Given the description of an element on the screen output the (x, y) to click on. 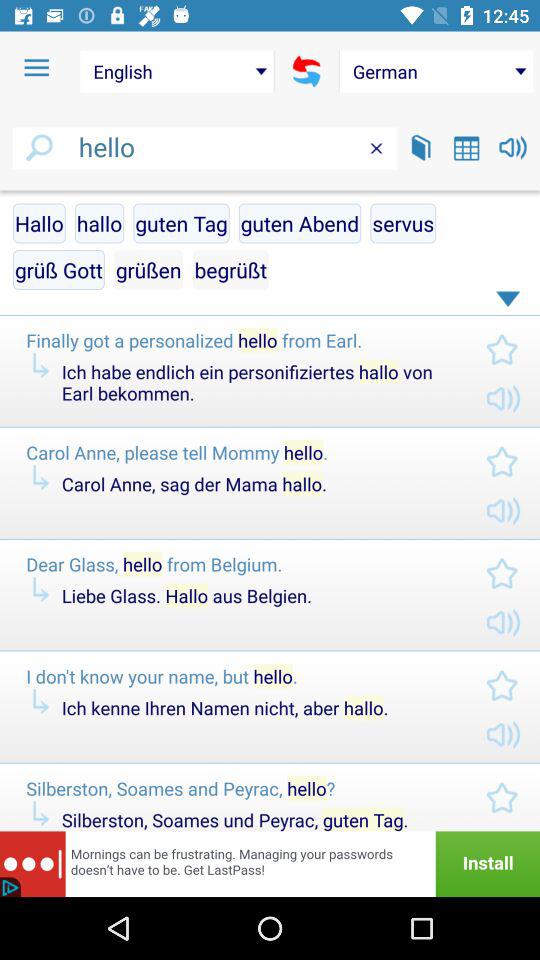
launch item below german icon (466, 148)
